Given the description of an element on the screen output the (x, y) to click on. 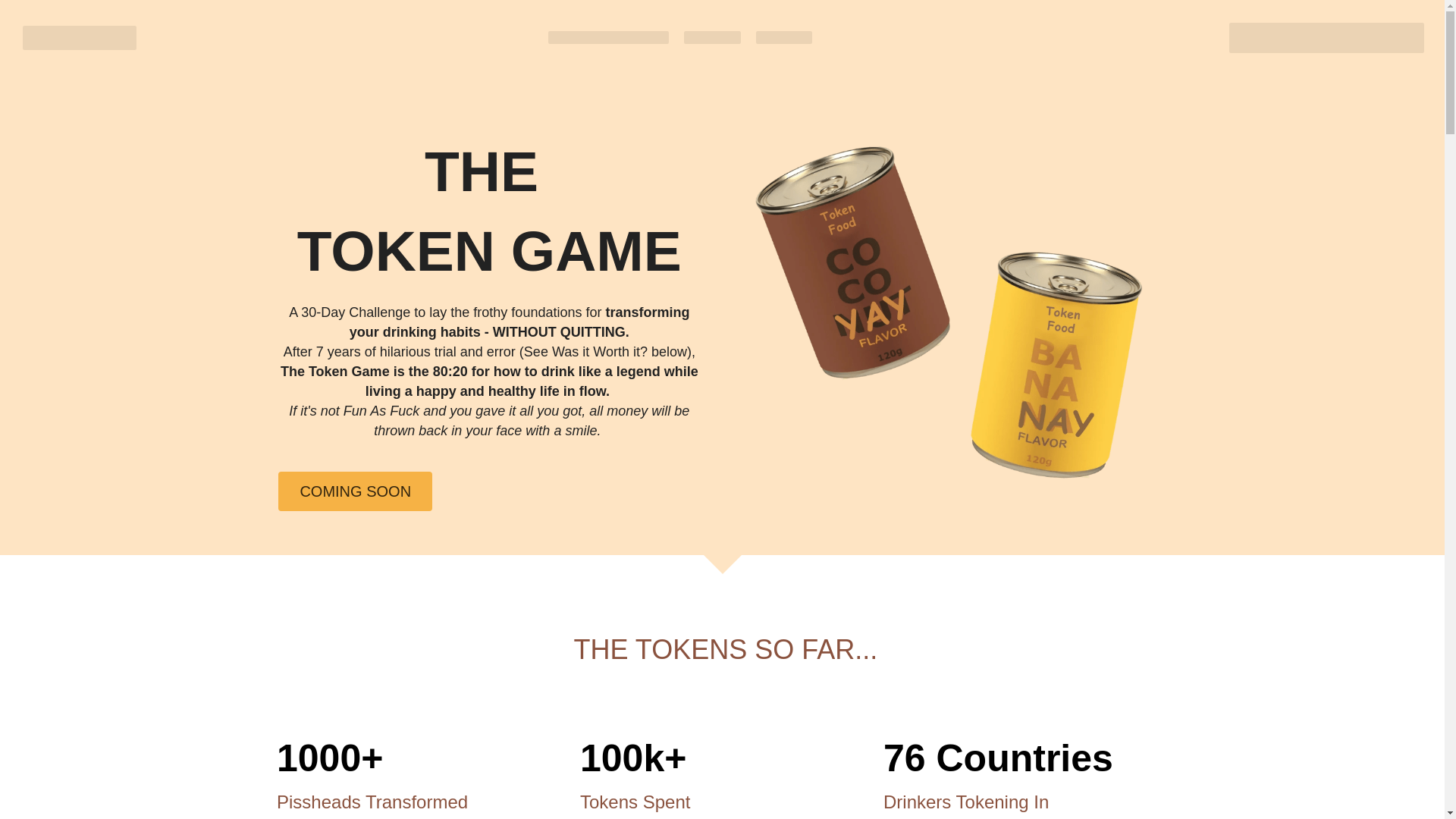
PLAYERS Element type: text (784, 37)
QUICKSTART GUIDE Element type: text (608, 37)
COMING SOON Element type: text (355, 491)
FLAVORS Element type: text (712, 37)
